Given the description of an element on the screen output the (x, y) to click on. 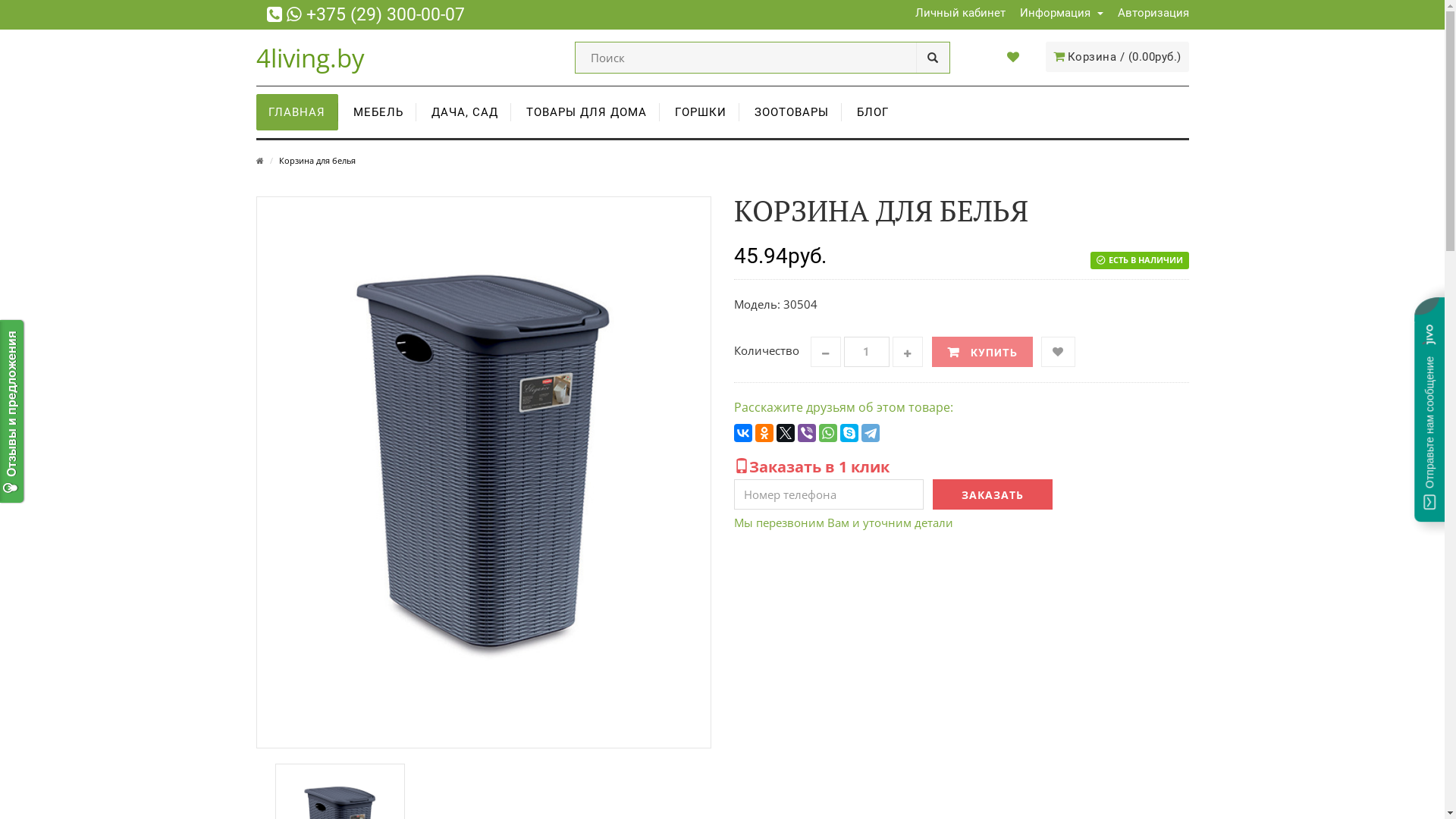
Skype Element type: hover (849, 432)
4living.by Element type: text (310, 57)
Viber Element type: hover (806, 432)
Telegram Element type: hover (870, 432)
WhatsApp Element type: hover (828, 432)
Twitter Element type: hover (785, 432)
+375 (29) 300-00-07 Element type: text (385, 14)
